Given the description of an element on the screen output the (x, y) to click on. 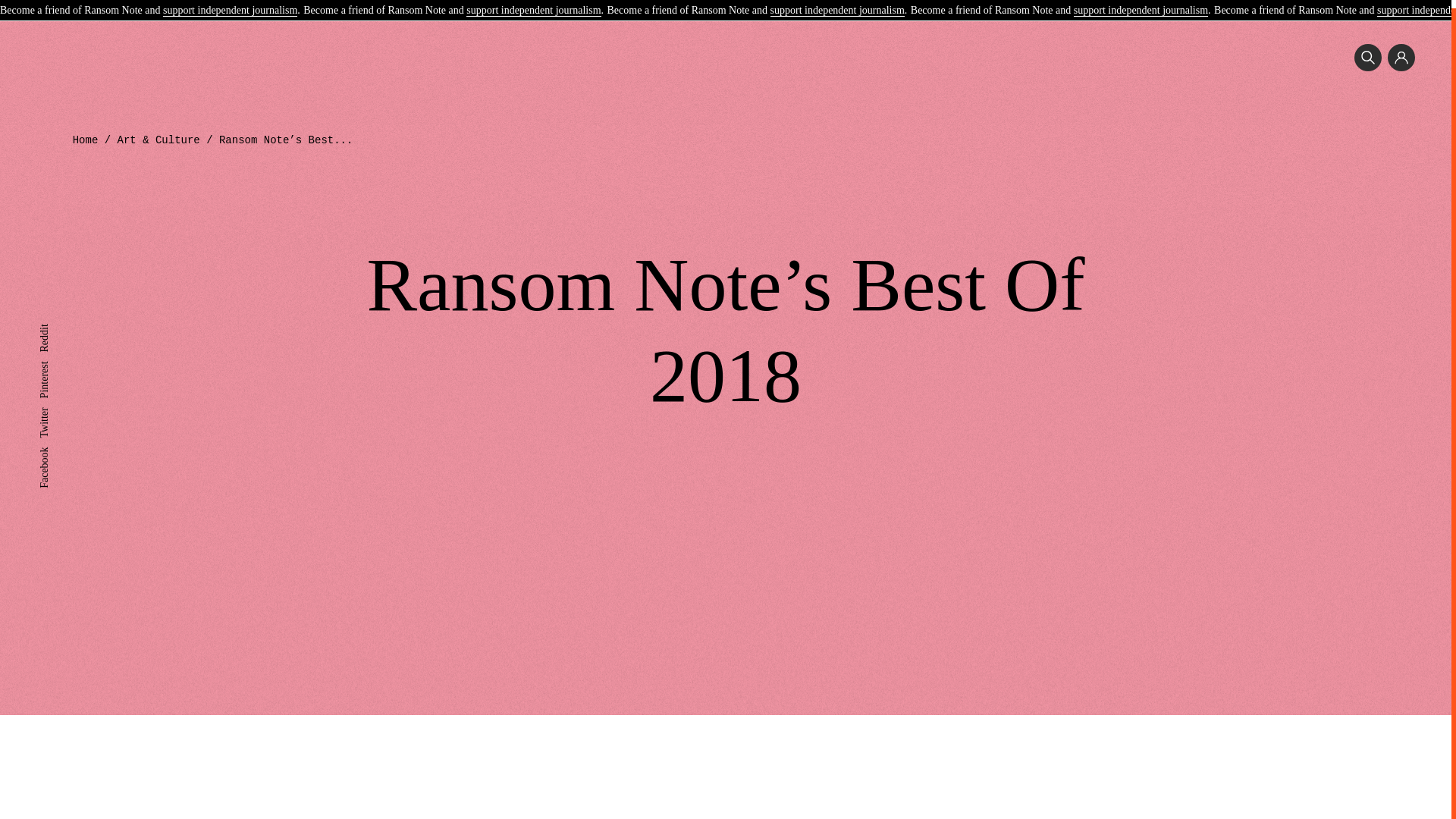
Home (85, 140)
Reddit (52, 321)
support independent journalism (230, 4)
support independent journalism (837, 4)
Pinterest (57, 358)
Facebook (59, 444)
support independent journalism (532, 4)
support independent journalism (1141, 4)
Twitter (53, 404)
